Given the description of an element on the screen output the (x, y) to click on. 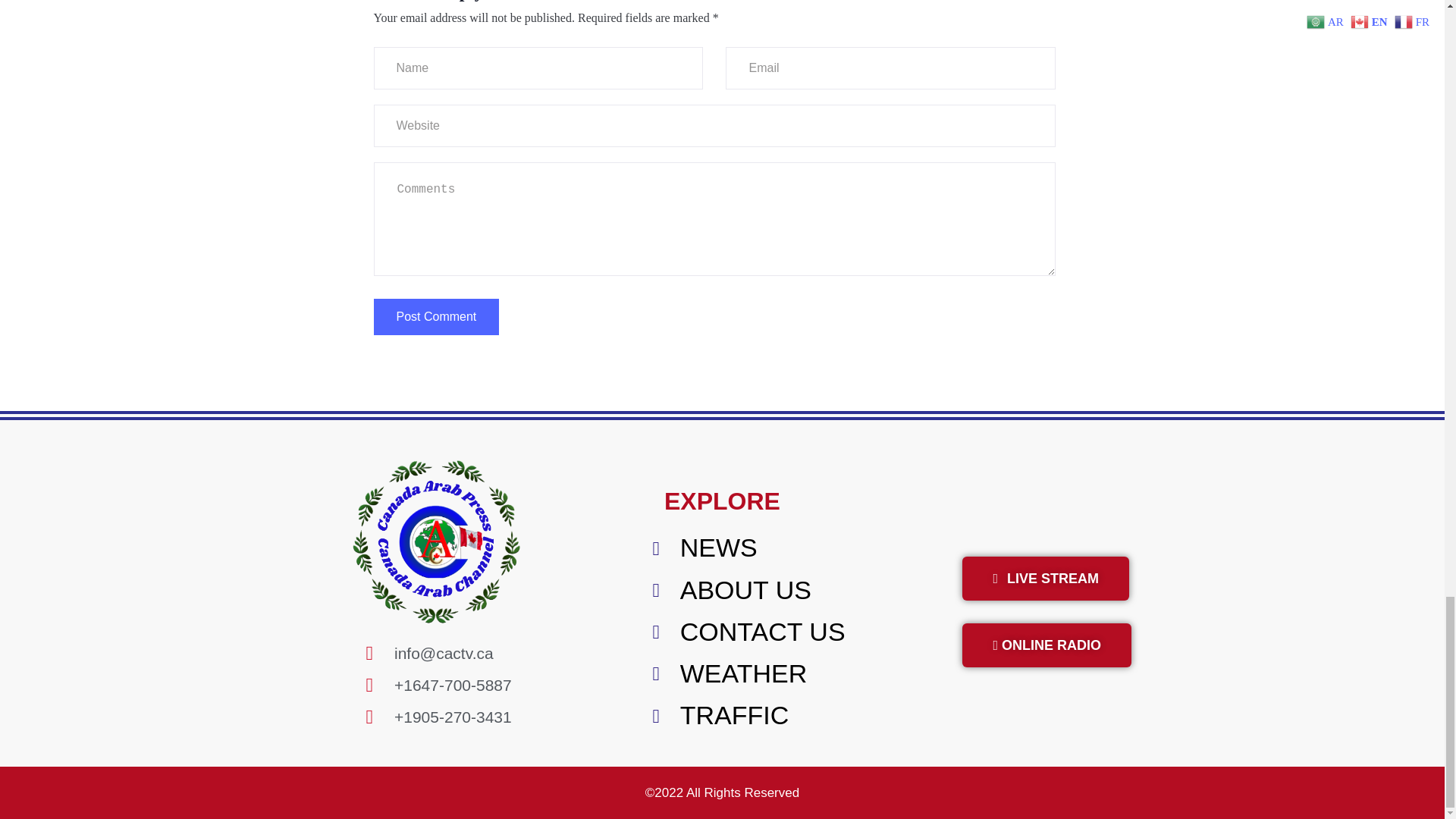
Post Comment (435, 316)
